Given the description of an element on the screen output the (x, y) to click on. 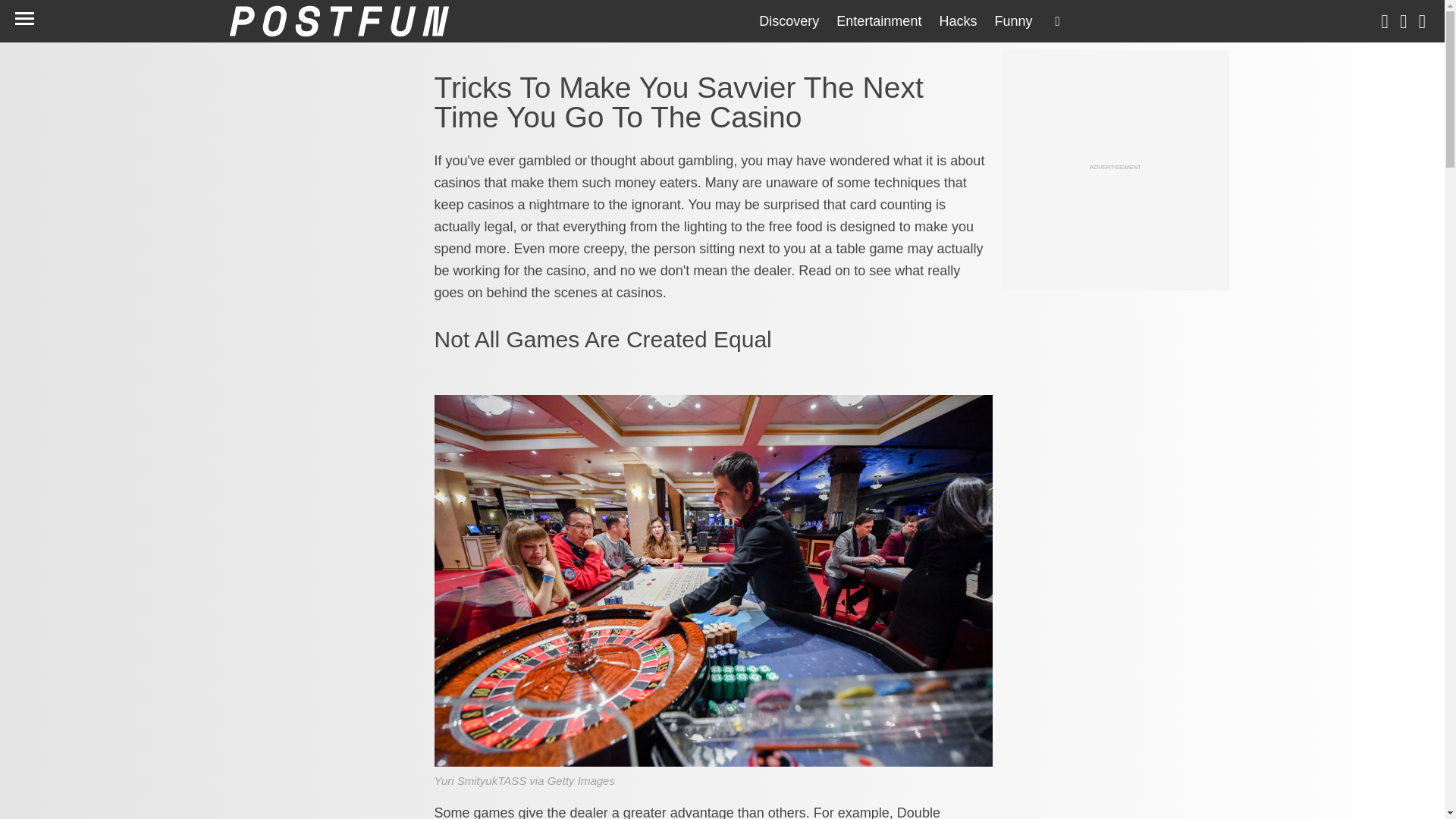
Funny (1013, 21)
Discovery (788, 21)
Entertainment (878, 21)
Hacks (957, 21)
